Given the description of an element on the screen output the (x, y) to click on. 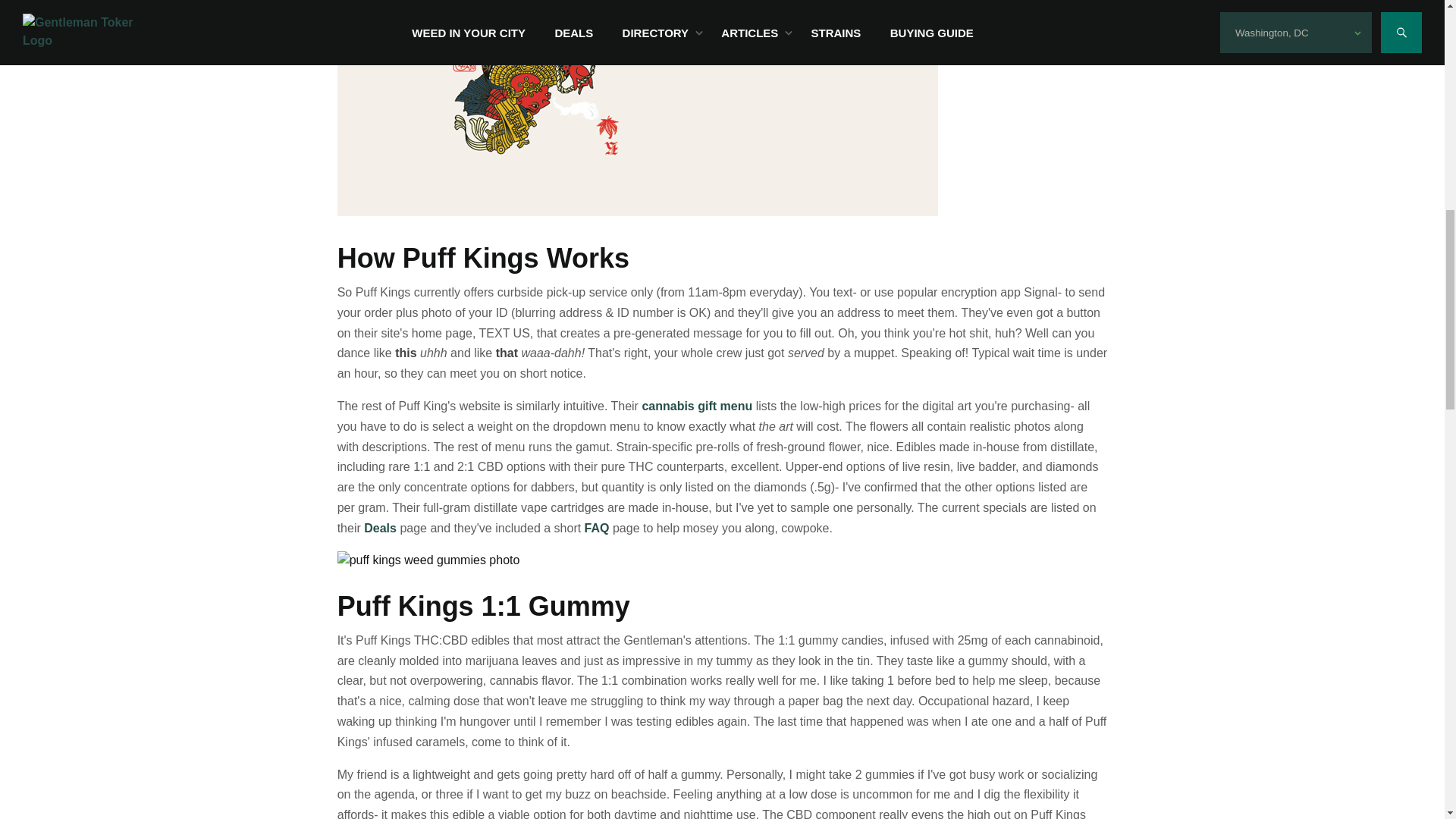
Deals (380, 527)
cannabis gift menu (697, 405)
FAQ (597, 527)
